Given the description of an element on the screen output the (x, y) to click on. 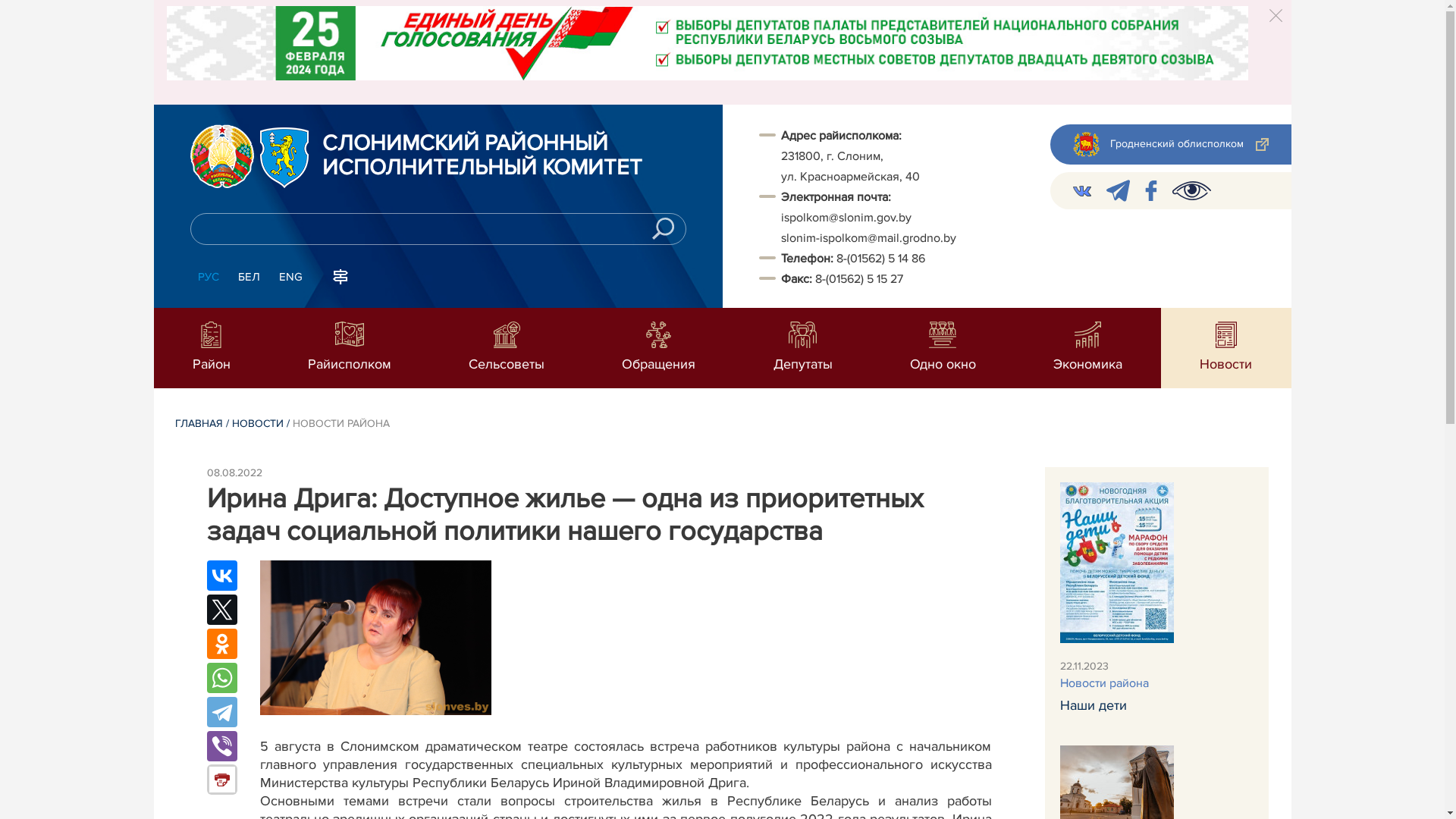
ENG Element type: text (290, 277)
facebook Element type: hover (1151, 190)
VK Element type: hover (1081, 191)
Viber Element type: hover (221, 746)
Twitter Element type: hover (221, 609)
  Element type: text (168, 88)
telegram Element type: hover (1117, 190)
Telegram Element type: hover (221, 711)
WhatsApp Element type: hover (221, 677)
VK Element type: hover (1081, 191)
